Given the description of an element on the screen output the (x, y) to click on. 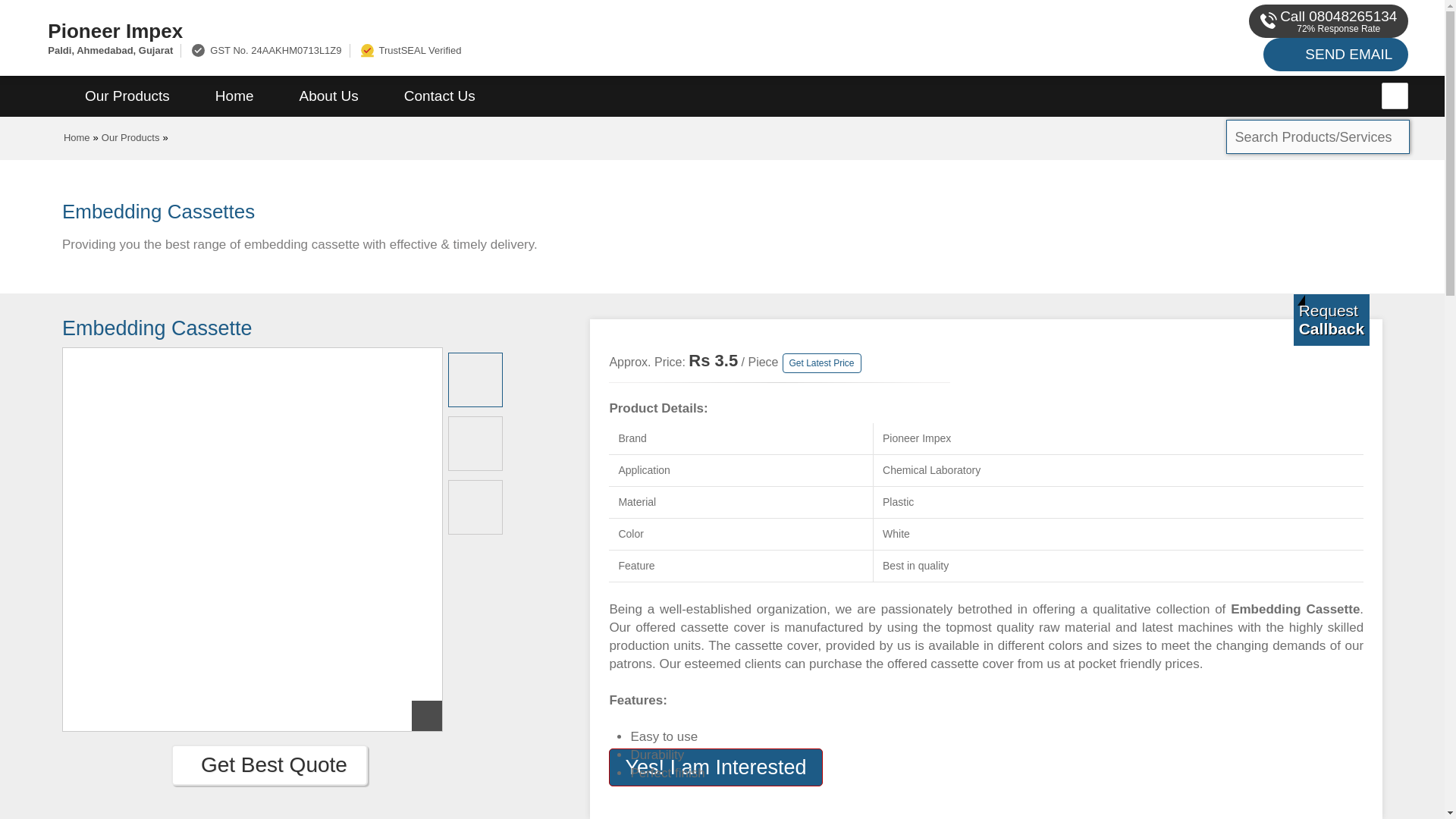
Our Products (130, 137)
Home (77, 137)
Contact Us (439, 96)
Our Products (127, 96)
Get a Call from us (1332, 319)
Home (234, 96)
Pioneer Impex (485, 31)
About Us (328, 96)
